Given the description of an element on the screen output the (x, y) to click on. 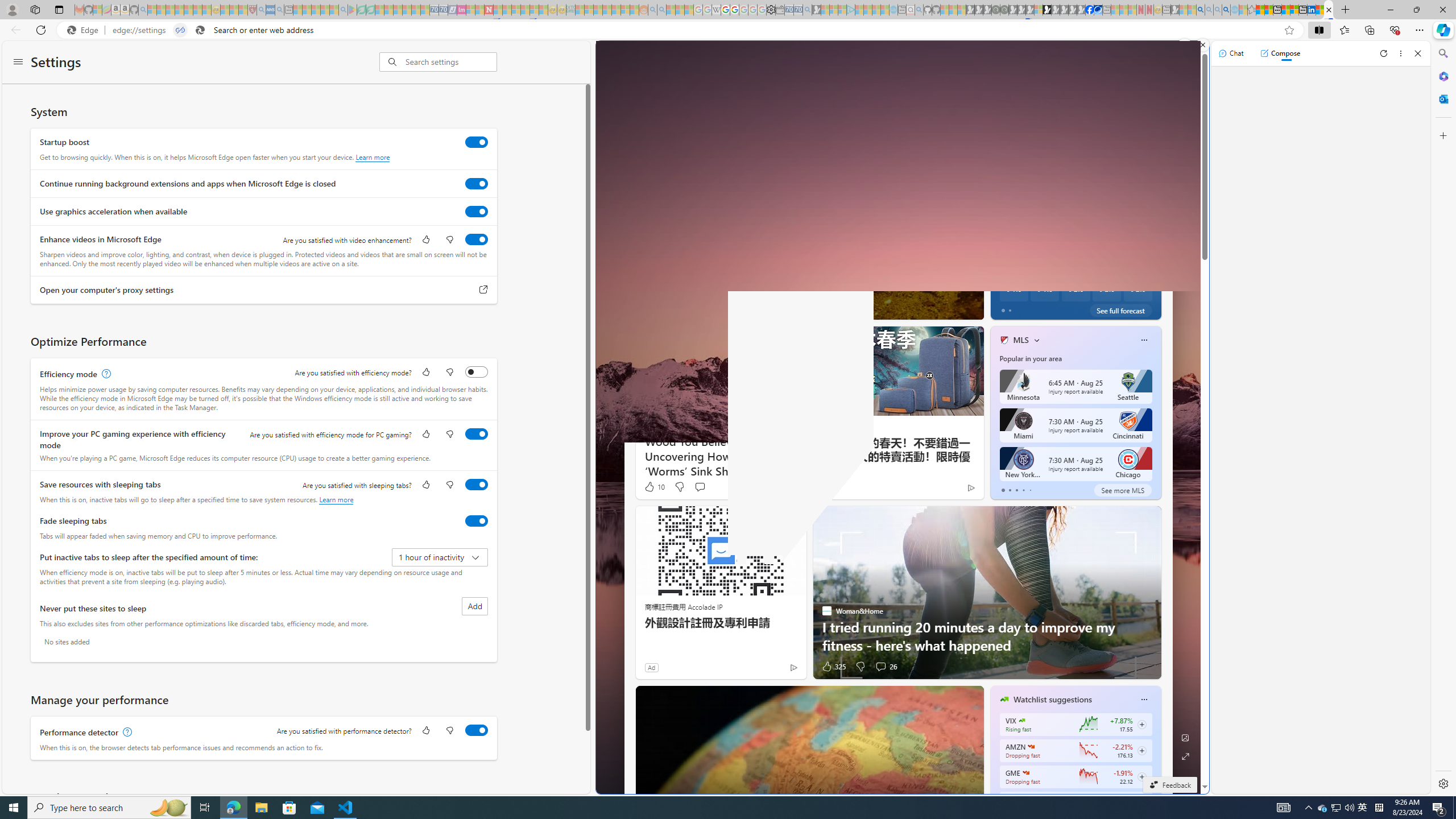
69 Like (1005, 307)
887 Like (1007, 307)
Fade sleeping tabs (476, 520)
Show more topics (997, 132)
8 Things I Did to Lose 25 Pounds in 6 Months (1159, 287)
AZ Animals (US) (649, 250)
More interests (1036, 340)
